Given the description of an element on the screen output the (x, y) to click on. 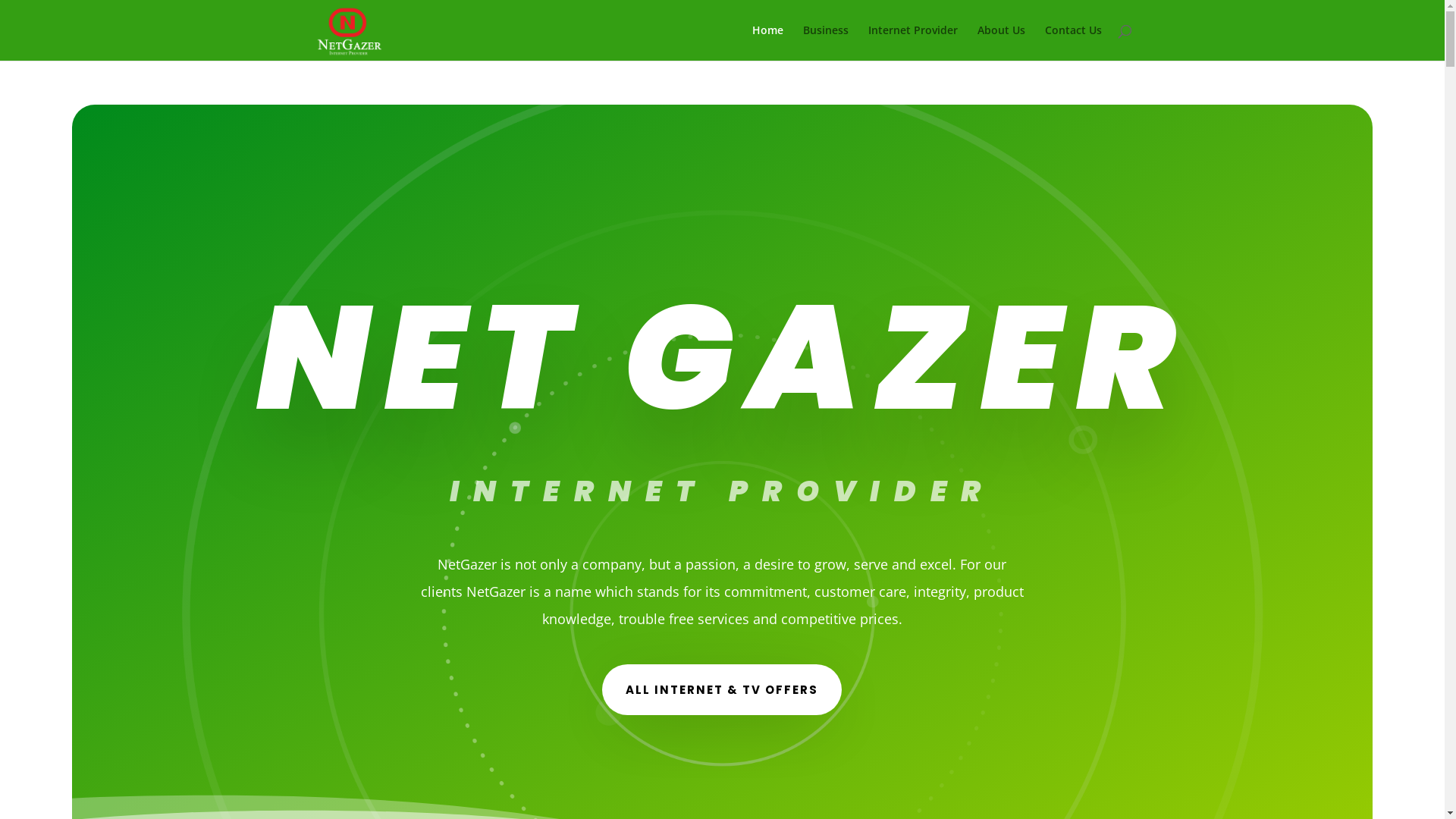
About Us Element type: text (1000, 42)
Internet Provider Element type: text (912, 42)
Contact Us Element type: text (1072, 42)
Home Element type: text (767, 42)
Business Element type: text (824, 42)
ALL INTERNET & TV OFFERS Element type: text (721, 689)
